Given the description of an element on the screen output the (x, y) to click on. 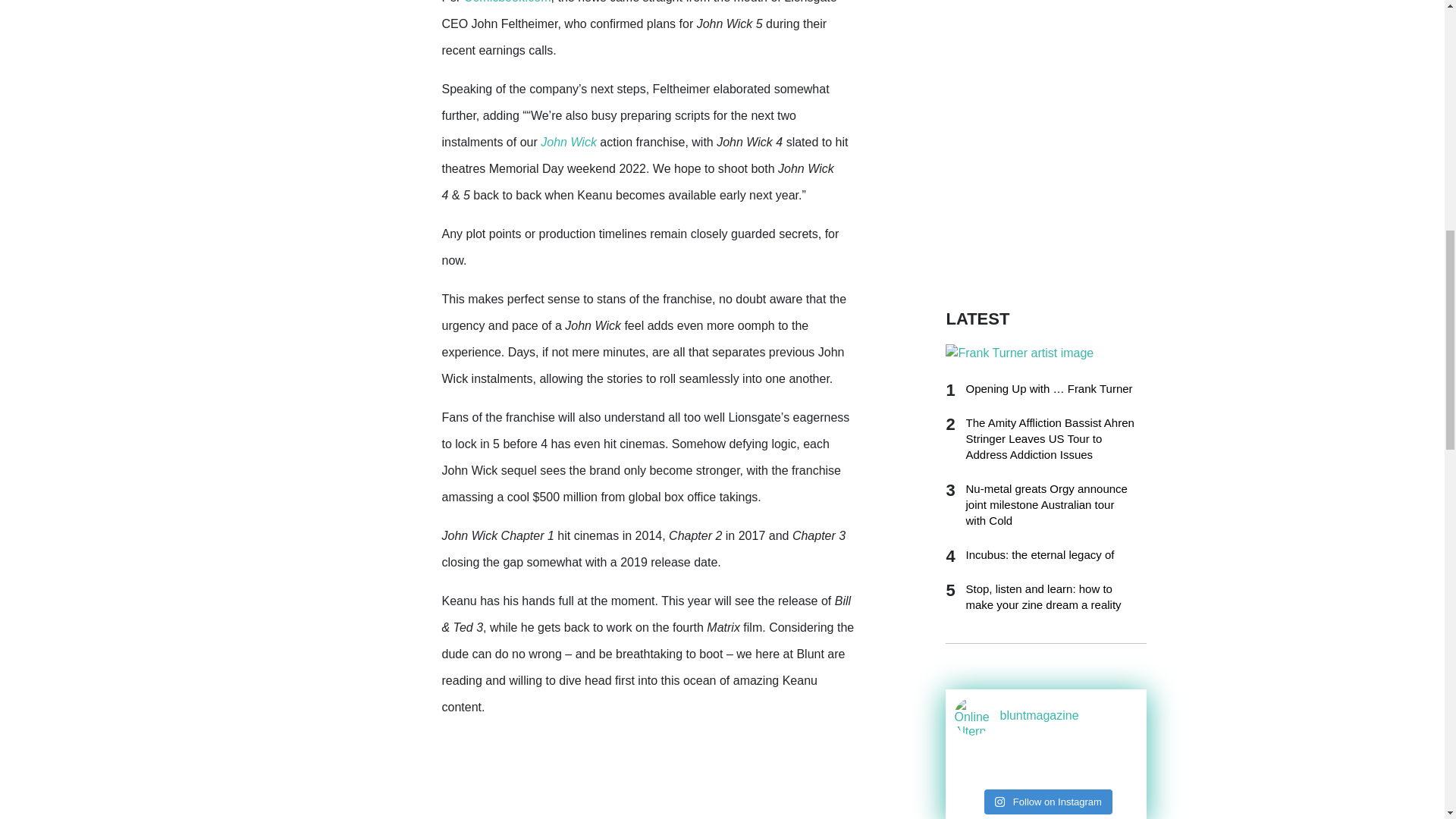
Comicbook.com (507, 2)
